Given the description of an element on the screen output the (x, y) to click on. 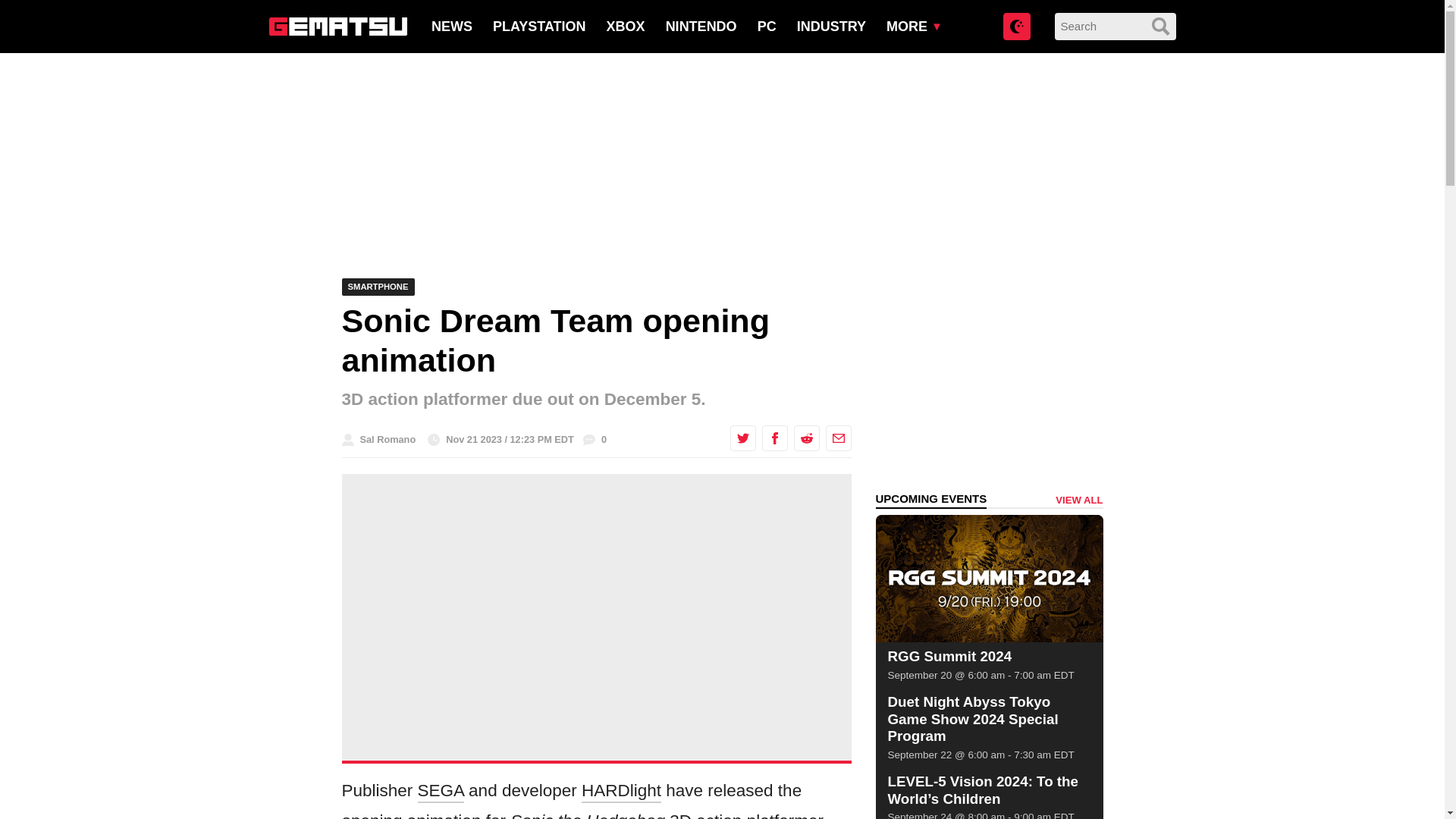
Gematsu (336, 26)
PLAYSTATION (539, 26)
Share this by email (837, 438)
INDUSTRY (831, 26)
Share this on Facebook (774, 438)
NINTENDO (700, 26)
PC (766, 26)
MORE (906, 26)
Share this on Reddit (805, 438)
Share this on Twitter (742, 438)
